Given the description of an element on the screen output the (x, y) to click on. 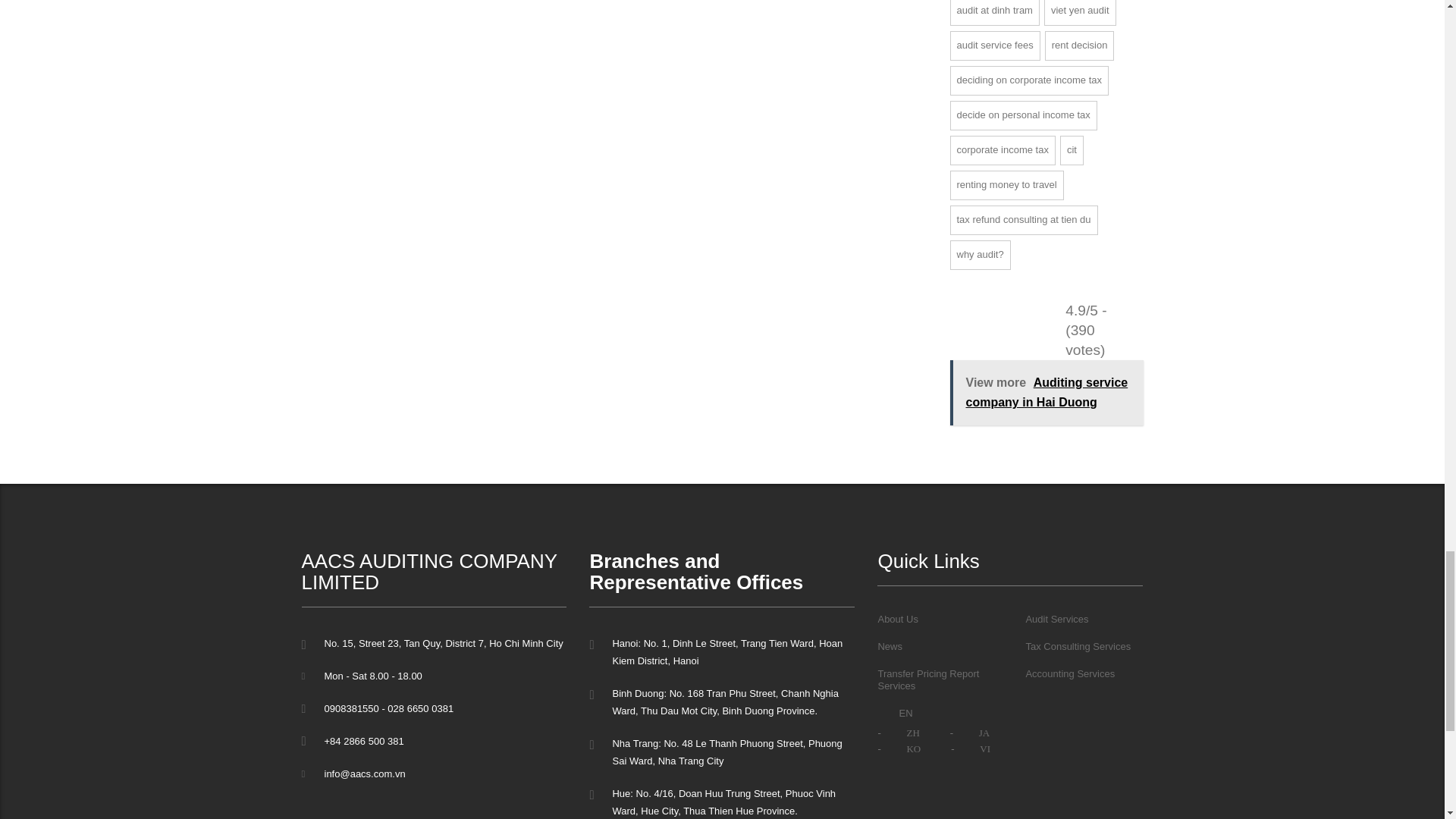
English (887, 712)
